Given the description of an element on the screen output the (x, y) to click on. 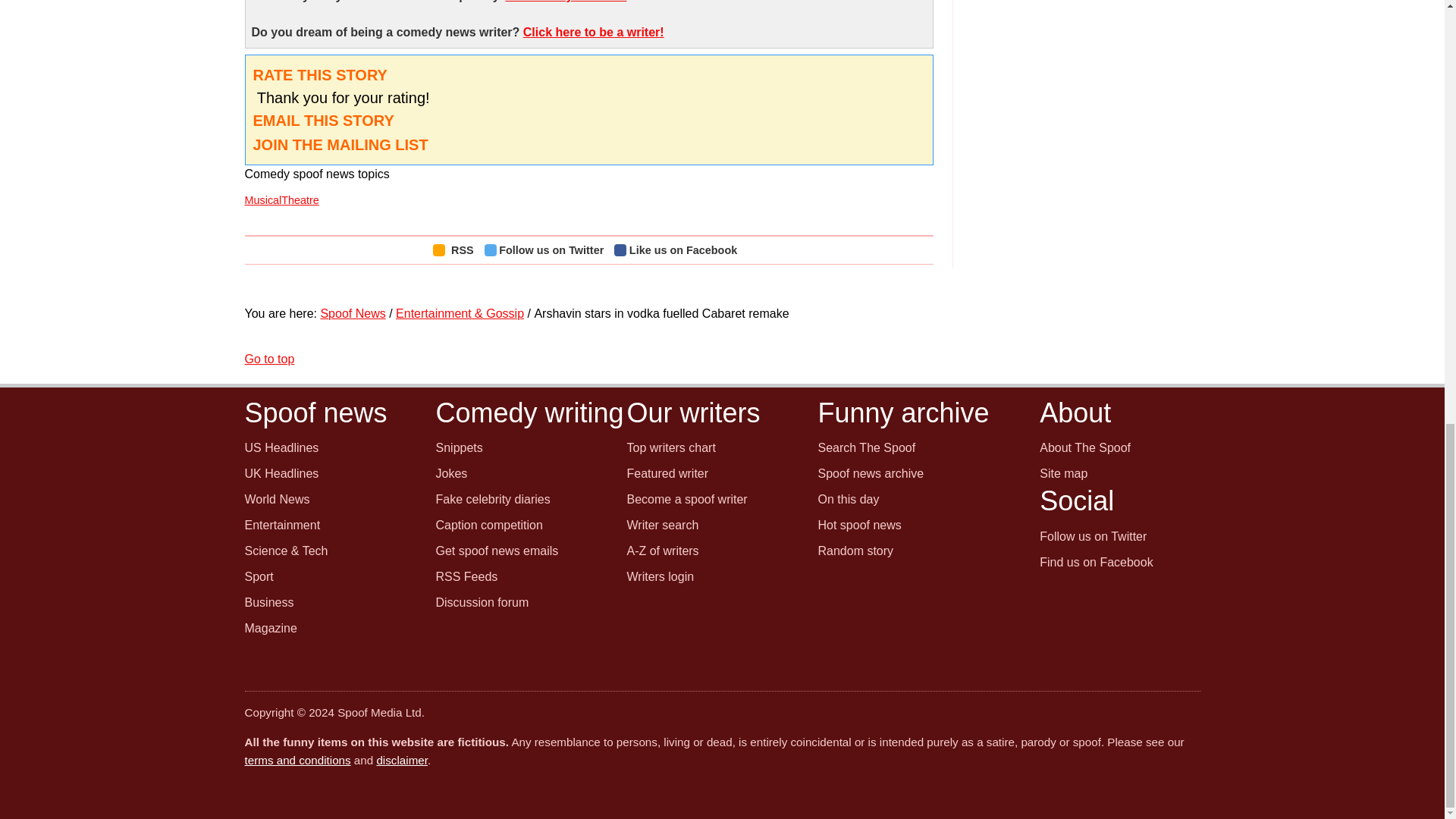
Click here to be a writer! (592, 31)
Theatre (299, 200)
Go to top (269, 358)
It is entirely fictitious (565, 1)
RSS (456, 250)
View RSS Feed (456, 250)
Spoof News US Headlines (281, 447)
JOIN THE MAILING LIST (340, 144)
EMAIL THIS STORY (323, 120)
Musical (262, 200)
